Given the description of an element on the screen output the (x, y) to click on. 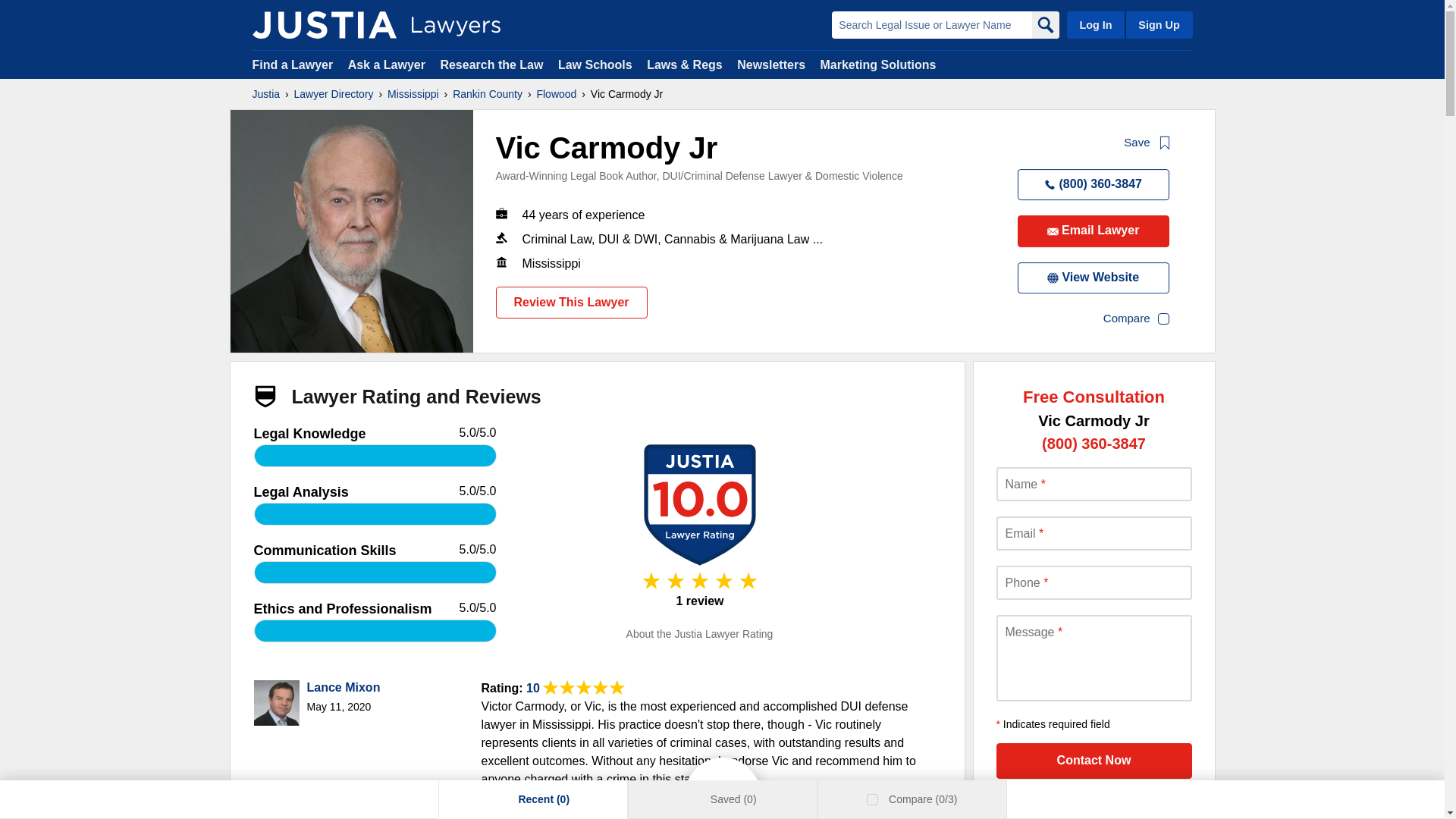
5 yellow stars badge (699, 587)
Newsletters (770, 64)
Mississippi (413, 93)
Research the Law (491, 64)
Saved (692, 799)
check (873, 798)
Justia (265, 93)
Search (1044, 24)
Name (1093, 483)
Find a Lawyer (292, 64)
Email Lawyer (1093, 230)
Lawyer Rating - 10 out of 10 (583, 687)
Sign Up (1158, 24)
Message (1093, 658)
Email (1093, 533)
